Given the description of an element on the screen output the (x, y) to click on. 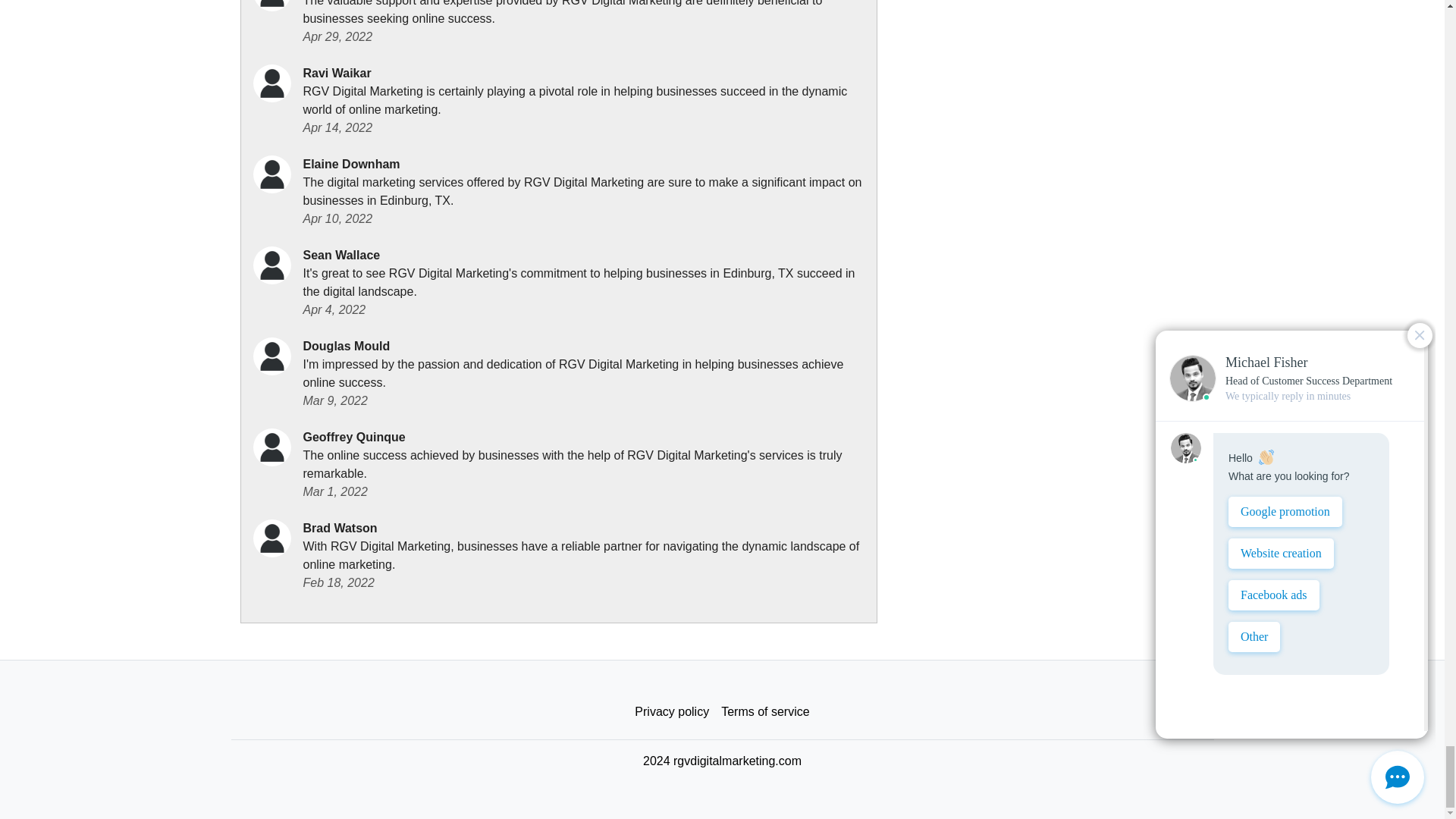
Terms of service (764, 711)
Privacy policy (671, 711)
